Given the description of an element on the screen output the (x, y) to click on. 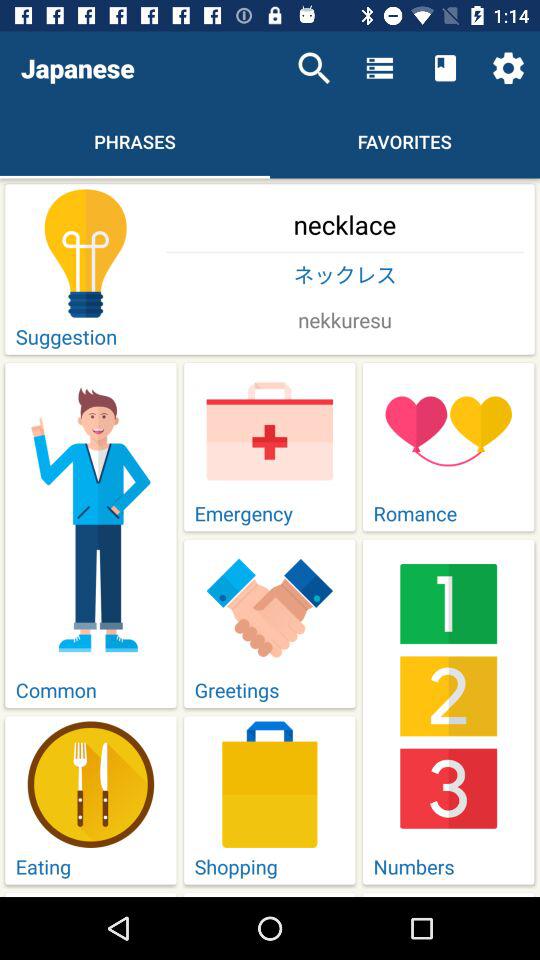
click icon above the necklace icon (313, 67)
